Given the description of an element on the screen output the (x, y) to click on. 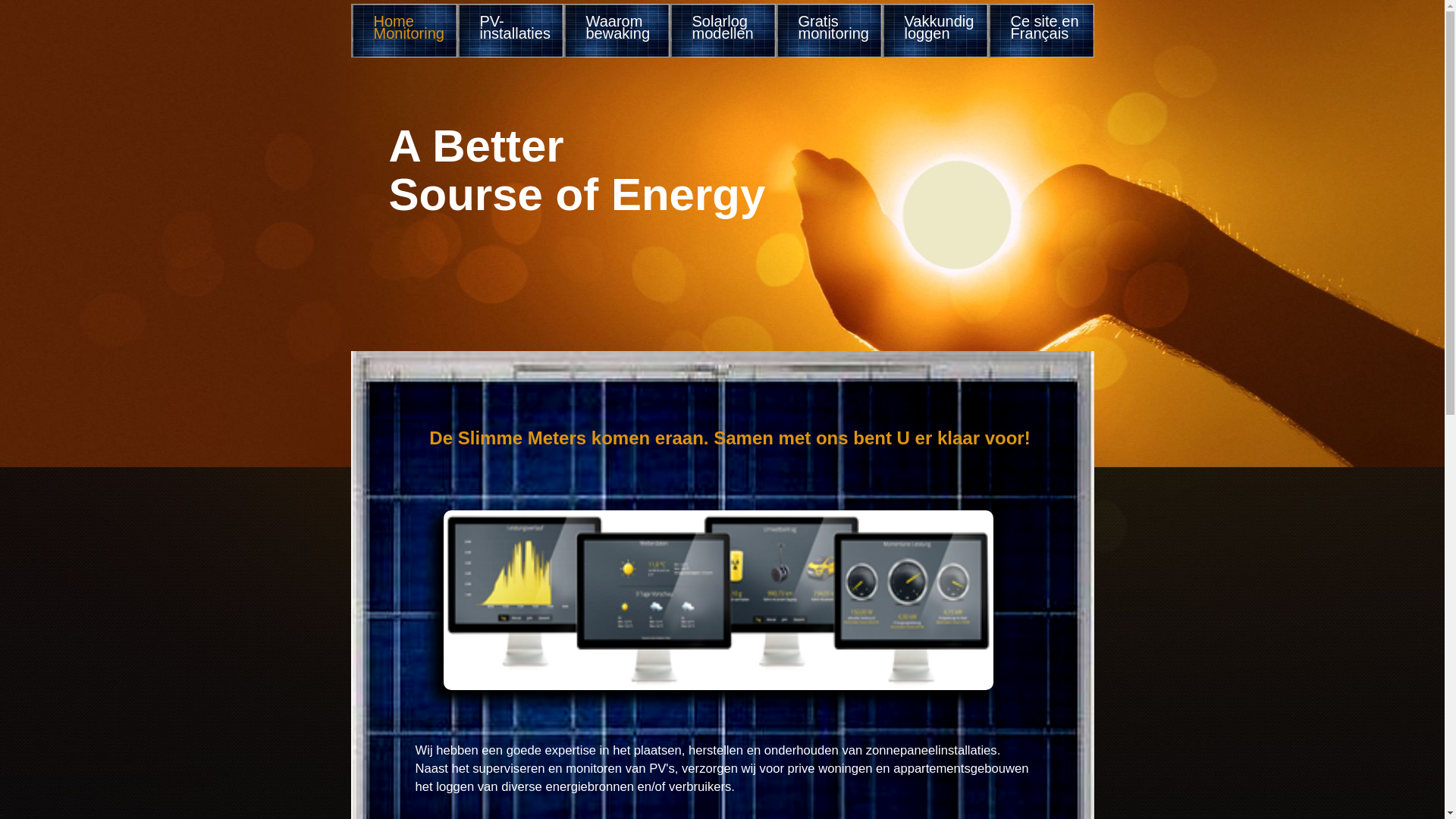
Vakkundig loggen Element type: text (940, 32)
Waarom bewaking Element type: text (621, 32)
Gratis monitoring Element type: text (834, 32)
PV- installaties Element type: text (515, 32)
Solarlog modellen Element type: text (727, 32)
Home Monitoring Element type: text (409, 32)
